Given the description of an element on the screen output the (x, y) to click on. 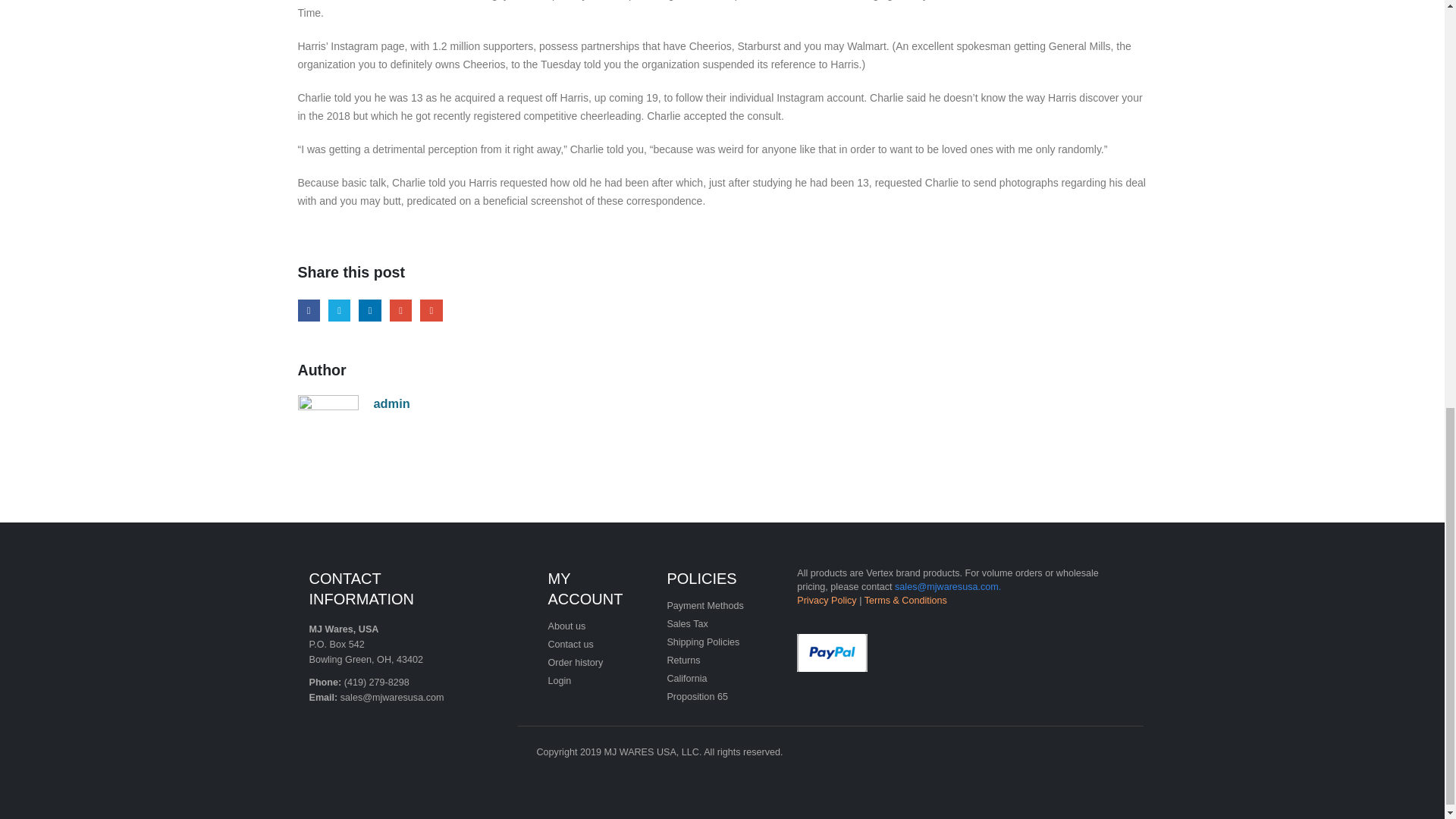
admin (390, 403)
Contact Us (569, 644)
Sales Tax (686, 624)
Order history (574, 662)
Login (558, 680)
LinkedIn (369, 310)
About us (566, 625)
About us (566, 625)
Twitter (339, 310)
Order history (574, 662)
Shipping Policies (702, 642)
Email (431, 310)
Privacy Policy (826, 600)
Contact us (569, 644)
California Proposition 65 (697, 687)
